Given the description of an element on the screen output the (x, y) to click on. 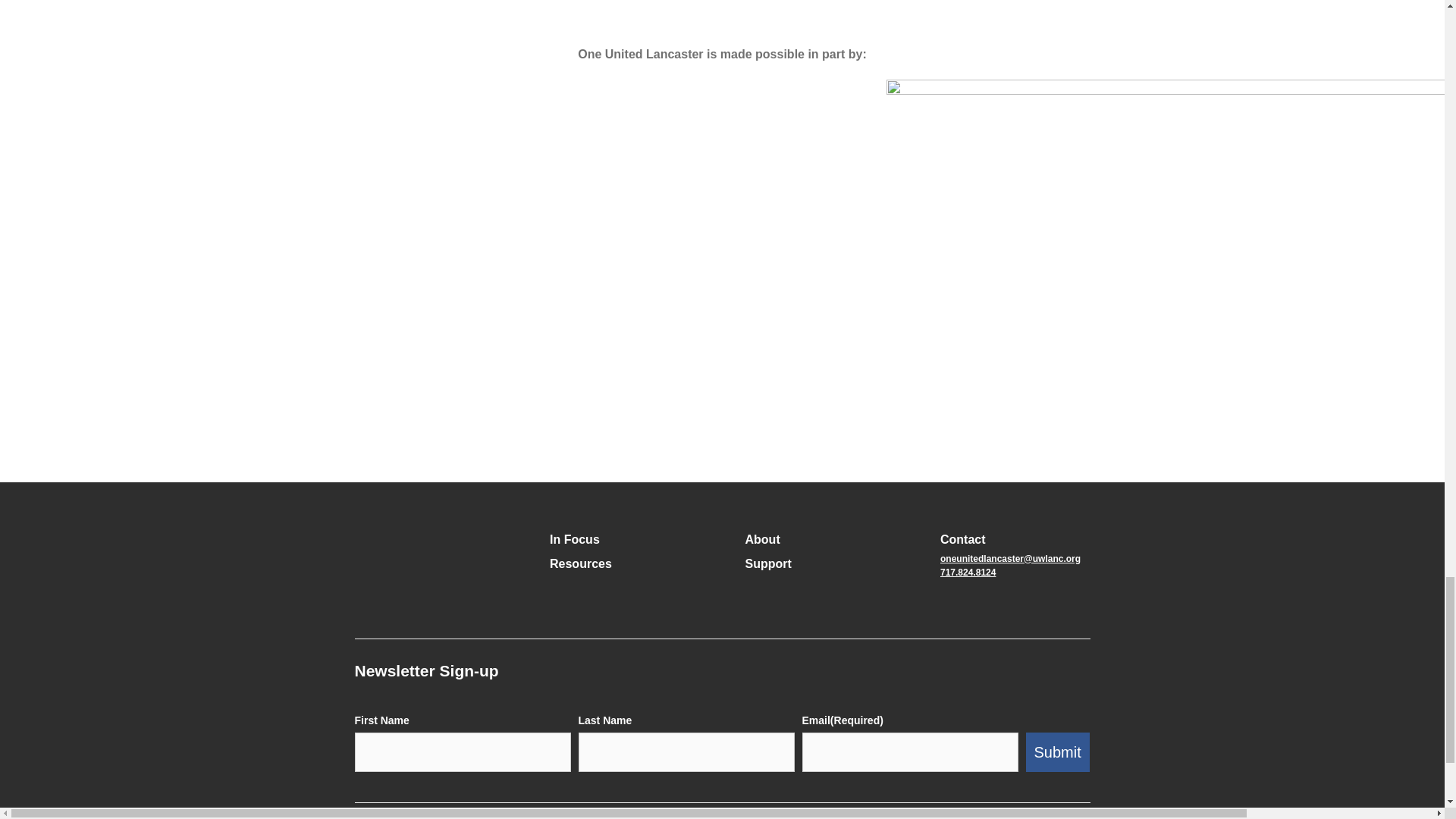
In Focus (574, 539)
Contact (962, 539)
Submit (1057, 752)
About (761, 539)
Resources (580, 564)
Support (767, 564)
